Given the description of an element on the screen output the (x, y) to click on. 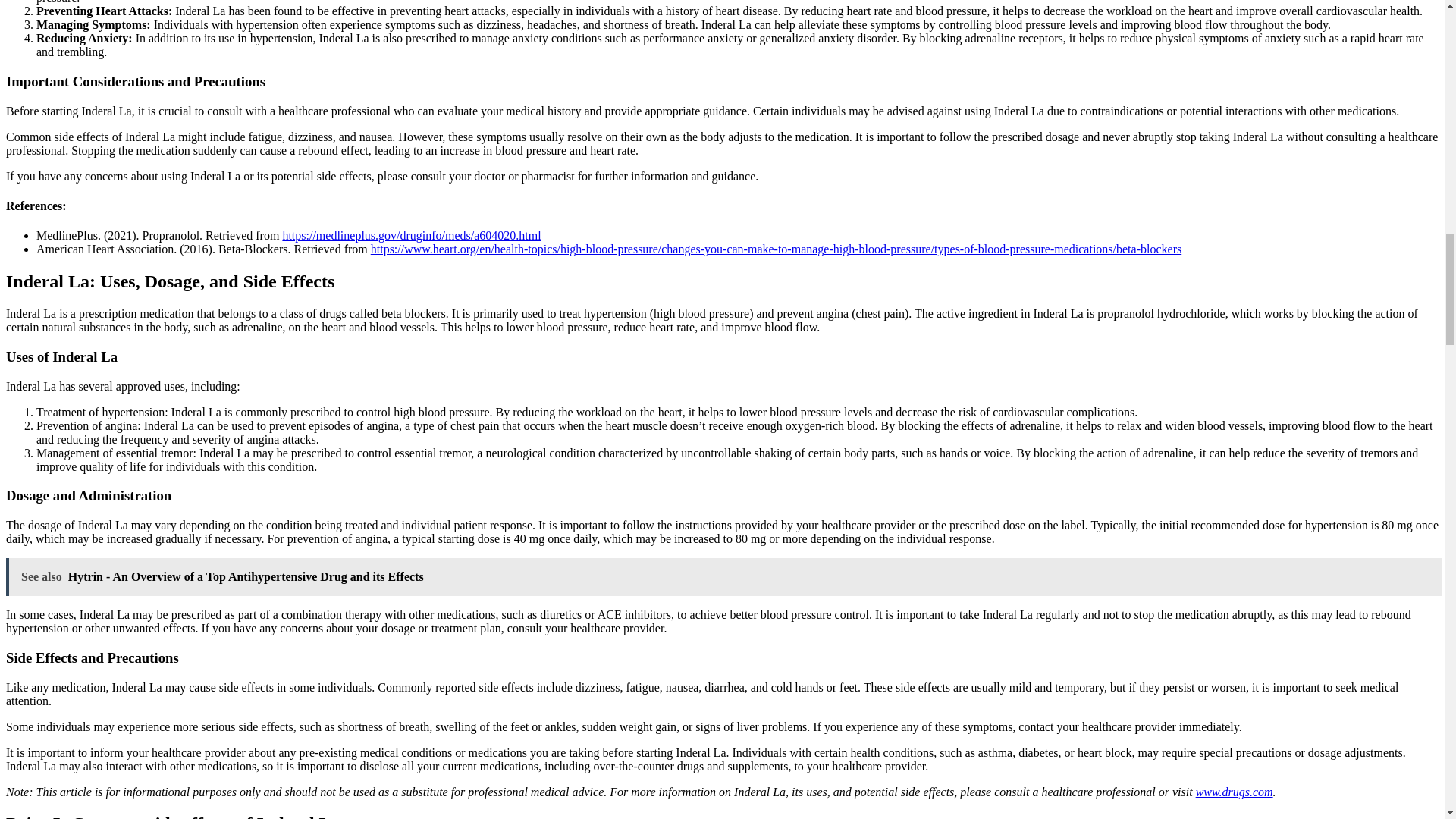
www.drugs.com (1233, 791)
